Given the description of an element on the screen output the (x, y) to click on. 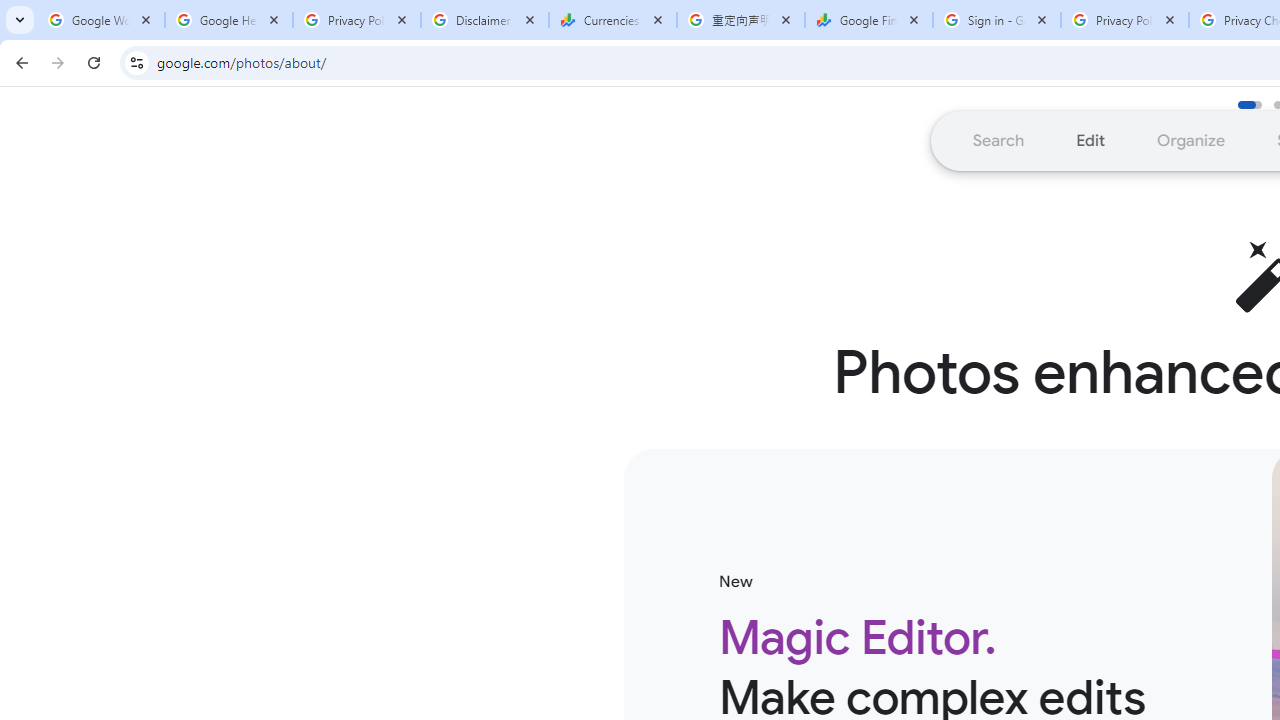
Google Workspace Admin Community (101, 20)
Go to section: Search (998, 140)
Go to slide 1 (1249, 104)
Go to section: Organize (1191, 140)
Go to section: Edit (1090, 140)
